Given the description of an element on the screen output the (x, y) to click on. 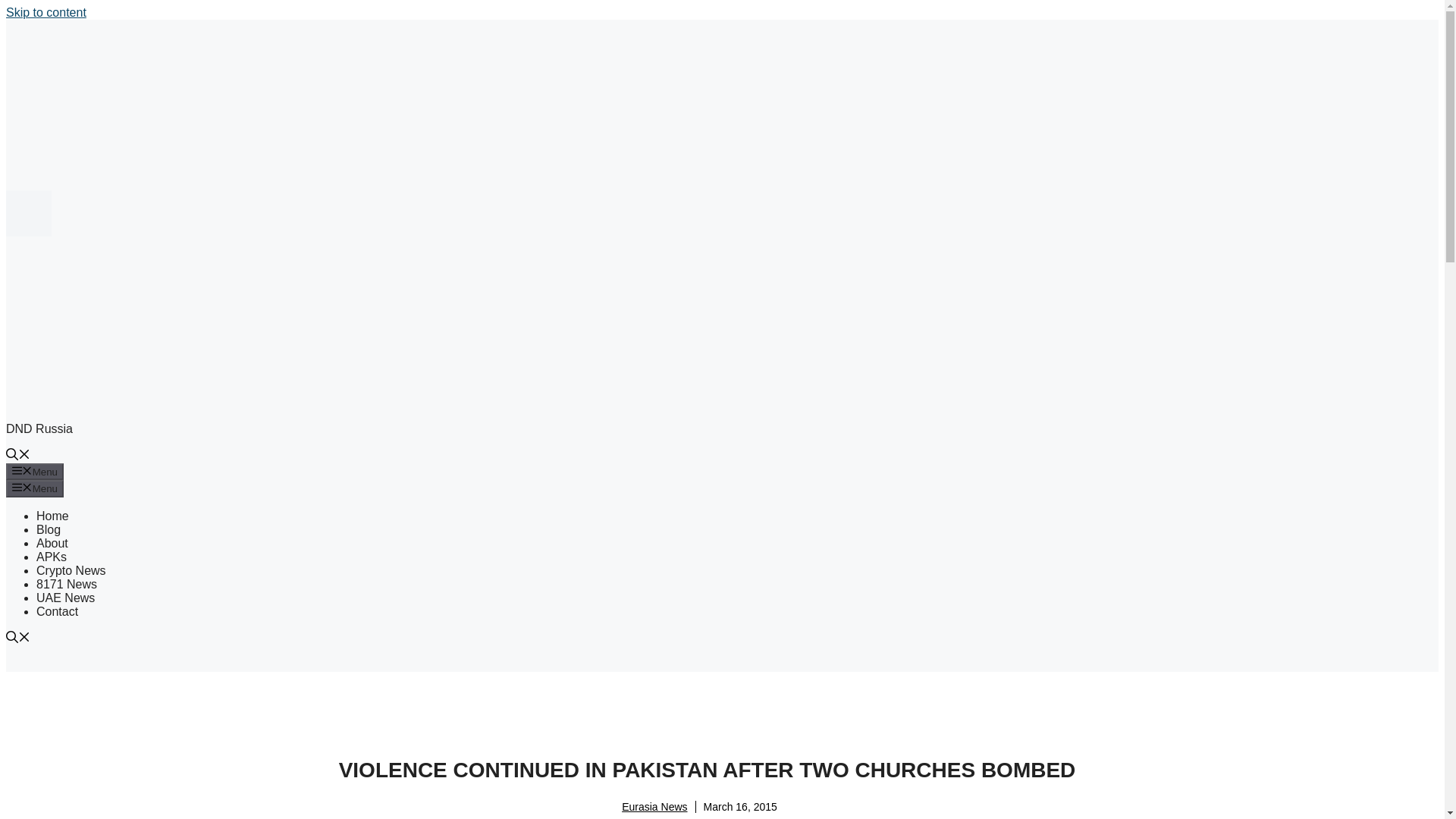
Skip to content (45, 11)
Menu (34, 471)
APKs (51, 556)
DND Russia (38, 428)
Skip to content (45, 11)
Home (52, 515)
Blog (48, 529)
Crypto News (71, 570)
Contact (57, 611)
About (52, 543)
UAE News (65, 597)
Menu (34, 487)
Eurasia News (654, 806)
8171 News (66, 584)
